Given the description of an element on the screen output the (x, y) to click on. 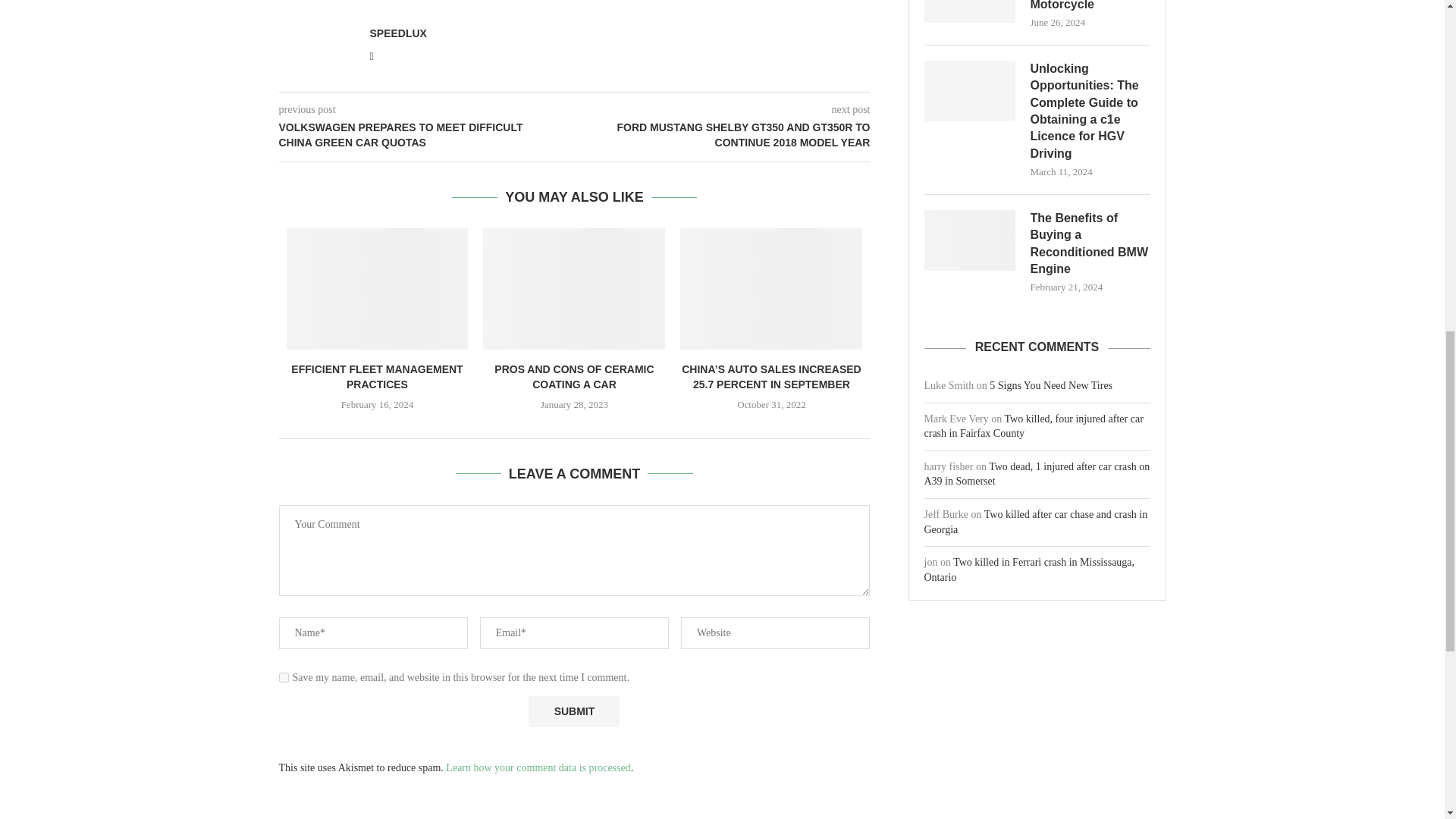
EFFICIENT FLEET MANAGEMENT PRACTICES (377, 376)
SPEEDLUX (397, 33)
Efficient Fleet Management Practices (377, 288)
VOLKSWAGEN PREPARES TO MEET DIFFICULT CHINA GREEN CAR QUOTAS (427, 134)
PROS AND CONS OF CERAMIC COATING A CAR (574, 376)
Submit (574, 711)
Pros and Cons of Ceramic Coating a Car (574, 288)
Author SpeedLux (397, 33)
yes (283, 677)
